Given the description of an element on the screen output the (x, y) to click on. 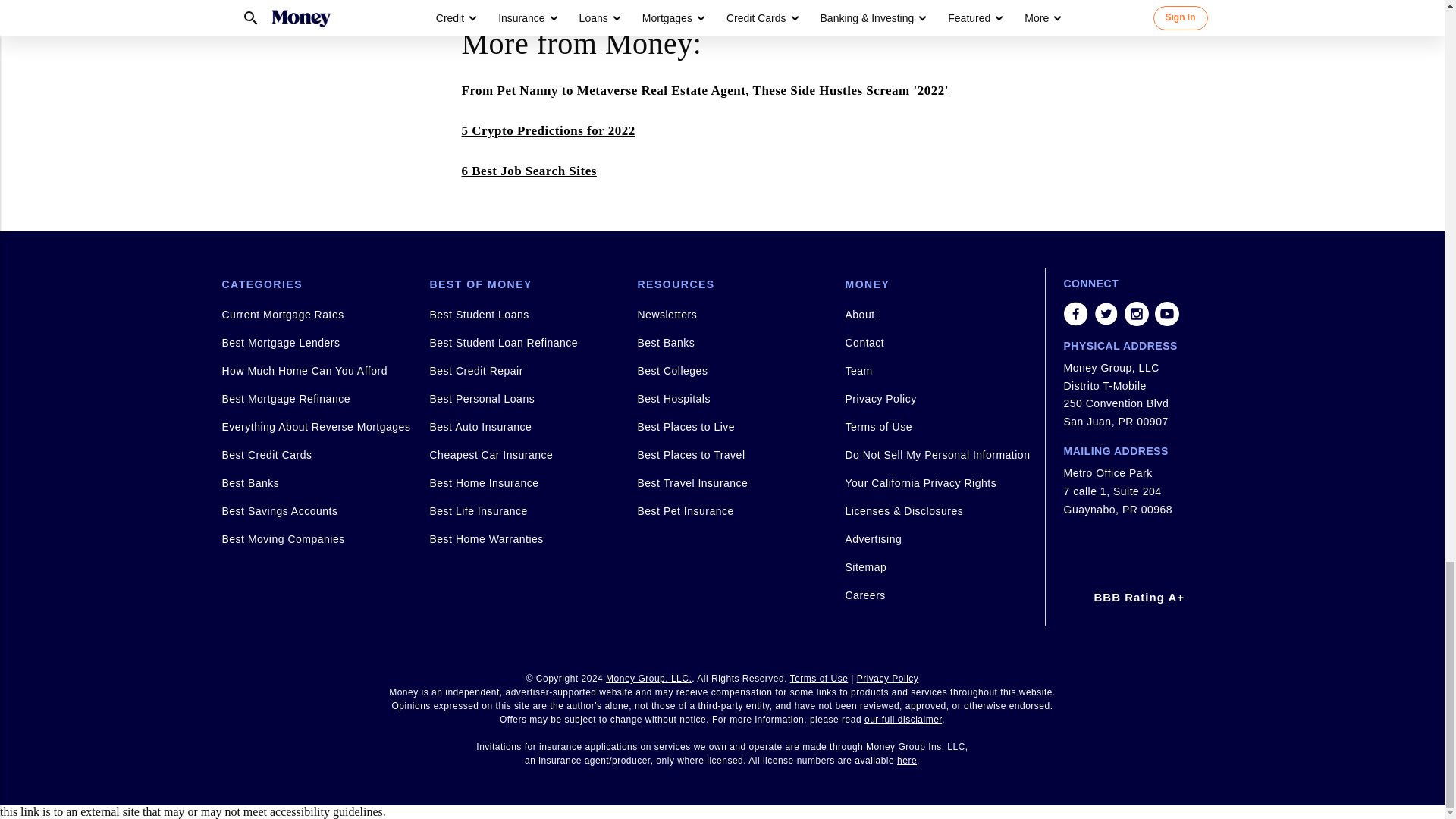
instagram share (1136, 313)
youtube share (1165, 313)
facebook share (1074, 313)
twitter share (1105, 313)
